Given the description of an element on the screen output the (x, y) to click on. 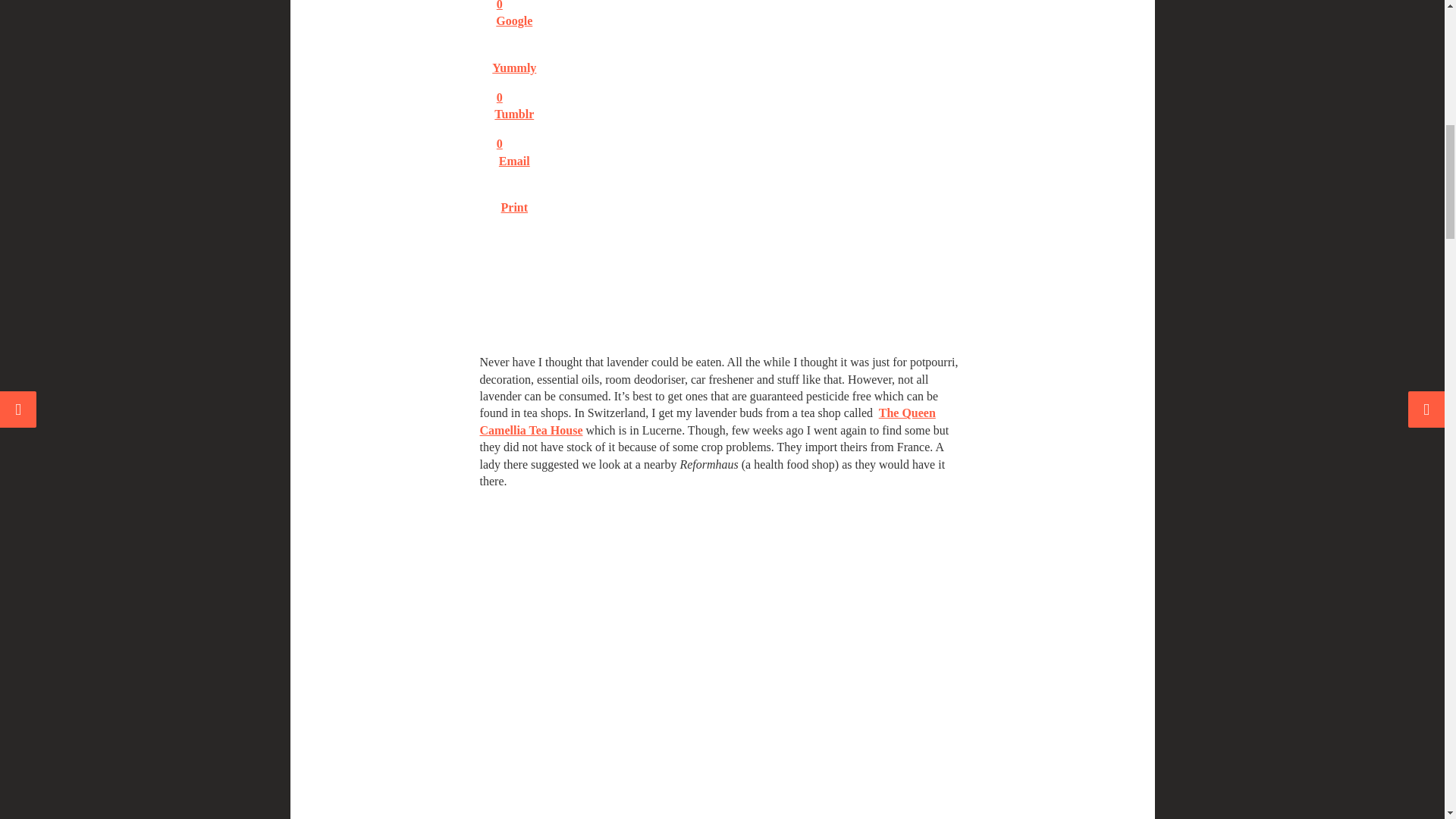
yummly (514, 44)
Google (513, 21)
google (517, 6)
Google (513, 28)
Yummly (513, 67)
Email (513, 5)
Print (513, 73)
